Given the description of an element on the screen output the (x, y) to click on. 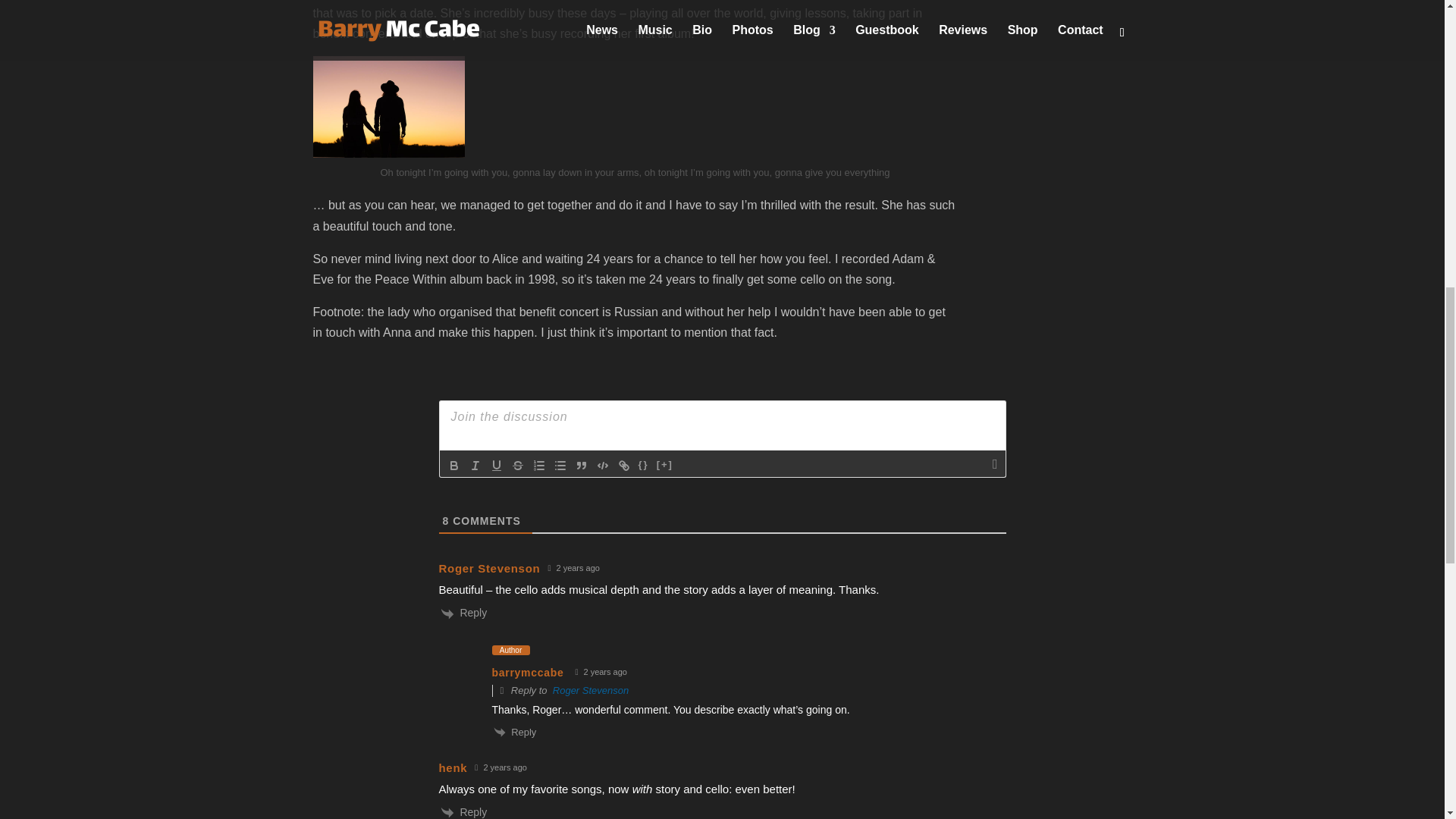
Bold (453, 465)
Underline (495, 465)
Link (622, 465)
Unordered List (559, 465)
Italic (474, 465)
Spoiler (664, 465)
ordered (537, 465)
Strike (516, 465)
bullet (559, 465)
Blockquote (580, 465)
